Given the description of an element on the screen output the (x, y) to click on. 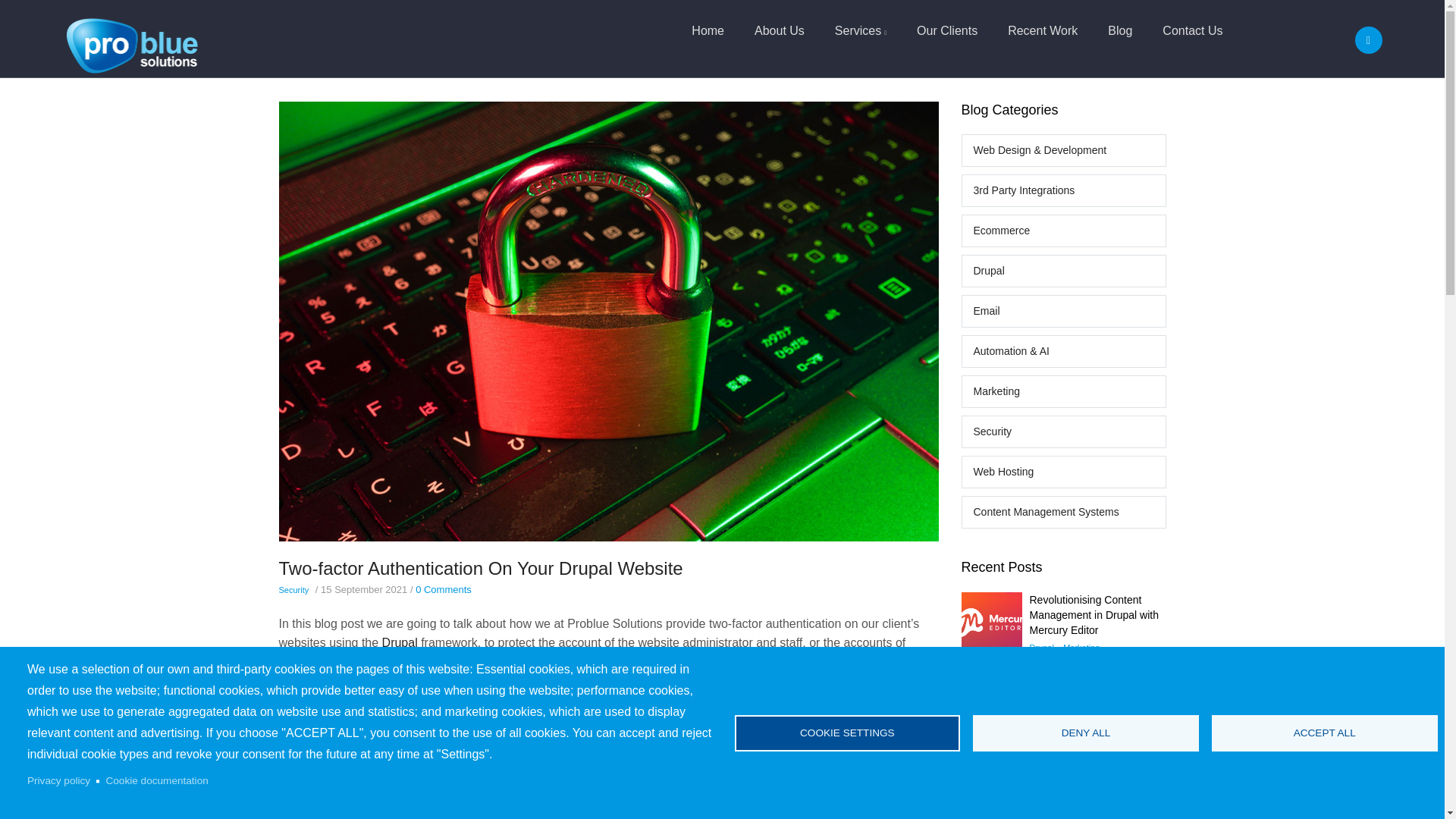
Email (1063, 310)
Marketing (1063, 391)
Security (293, 590)
0 Comments (442, 589)
Blog (1120, 30)
Home (708, 30)
Security (1063, 431)
Contact Us (1192, 30)
Home (132, 36)
Services (860, 31)
Recent Work (1042, 30)
Drupal (399, 642)
About Us (779, 30)
Our Clients (946, 30)
Ecommerce (1063, 230)
